Given the description of an element on the screen output the (x, y) to click on. 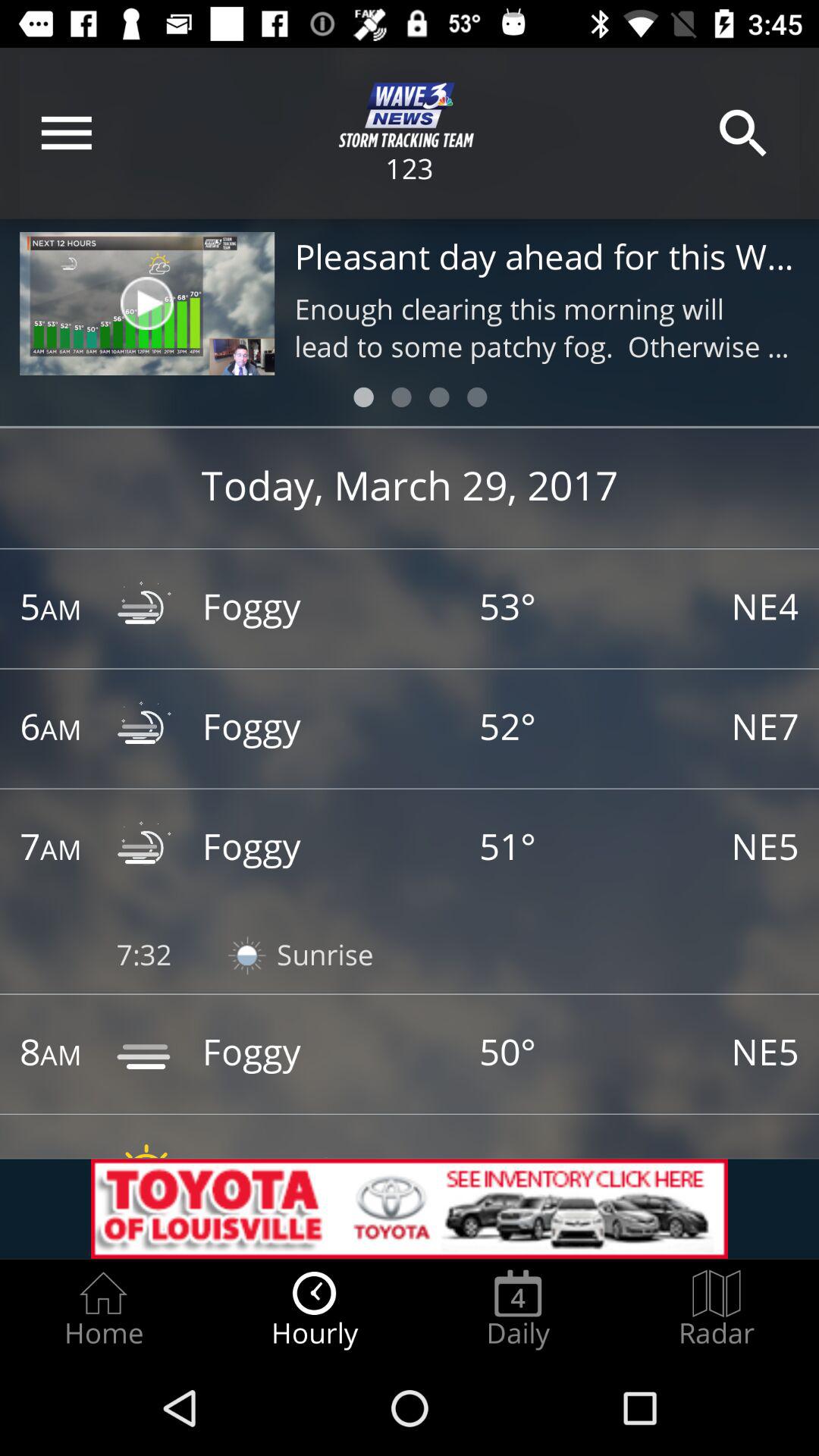
launch the item next to the hourly (103, 1309)
